Given the description of an element on the screen output the (x, y) to click on. 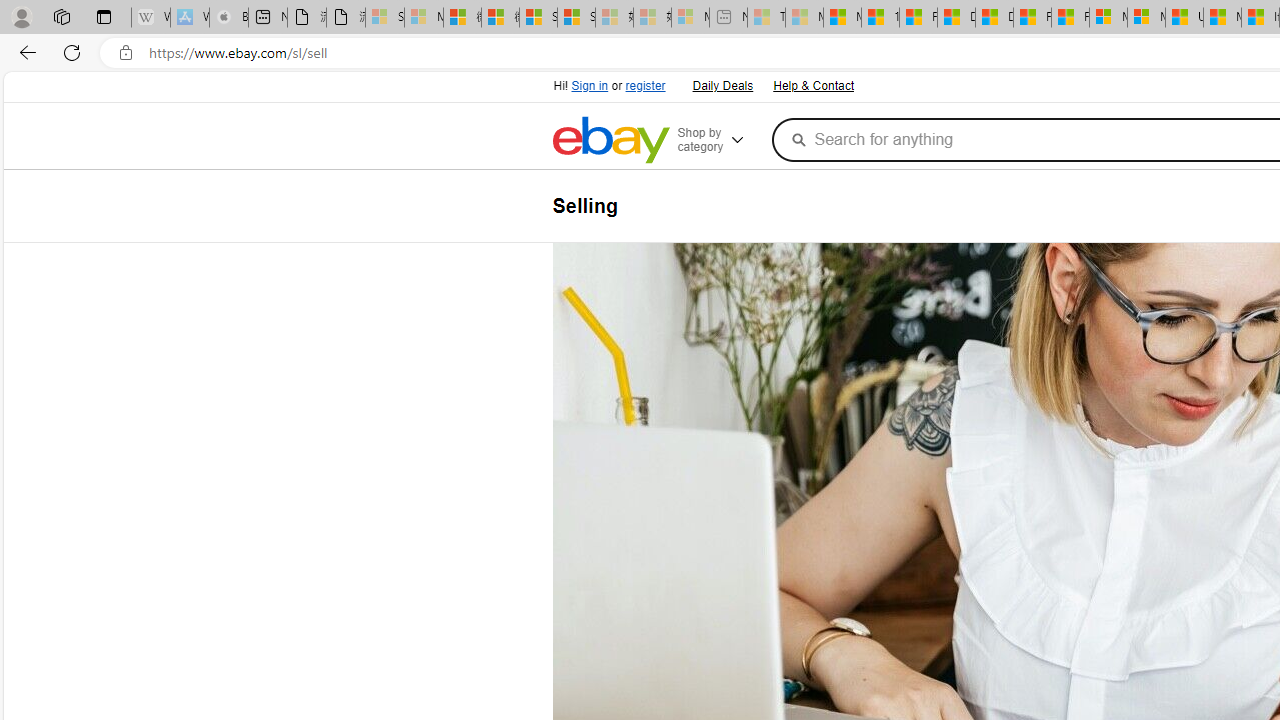
register (644, 85)
Help & Contact (813, 86)
Sign in to your Microsoft account - Sleeping (385, 17)
Foo BAR | Trusted Community Engagement and Contributions (1070, 17)
Marine life - MSN - Sleeping (804, 17)
Daily Deals (721, 84)
Food and Drink - MSN (917, 17)
Shop by category (720, 140)
